Given the description of an element on the screen output the (x, y) to click on. 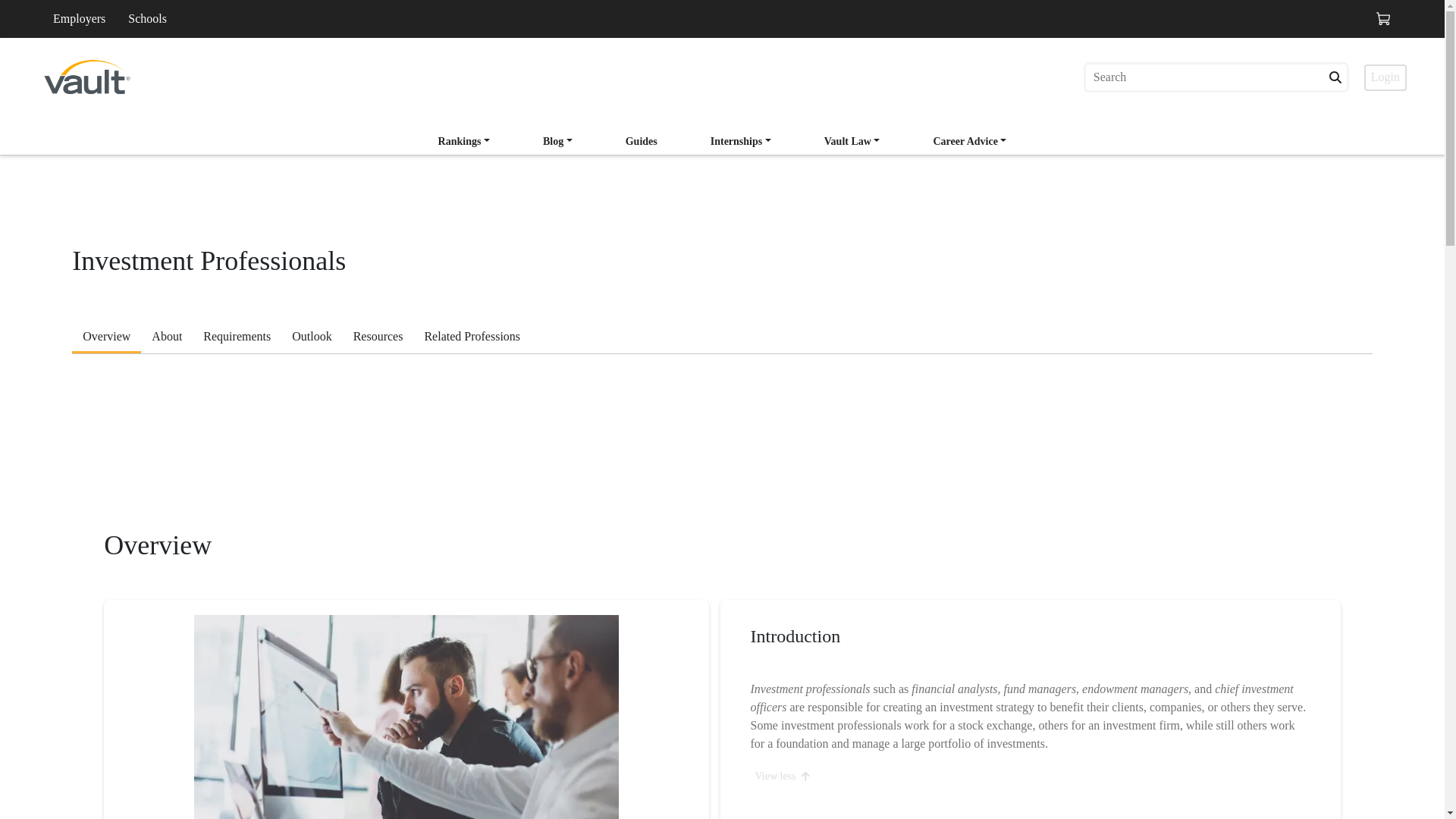
Career Advice (968, 141)
Outlook (311, 337)
Rankings (464, 142)
Guides (641, 142)
Overview (106, 337)
Rankings (464, 141)
Internships (740, 141)
3rd party ad content (722, 456)
Blog (557, 141)
Skip to main content (132, 30)
Related Professions (472, 337)
Resources (377, 337)
View less (782, 776)
Career Advice (968, 142)
Login (1385, 76)
